Given the description of an element on the screen output the (x, y) to click on. 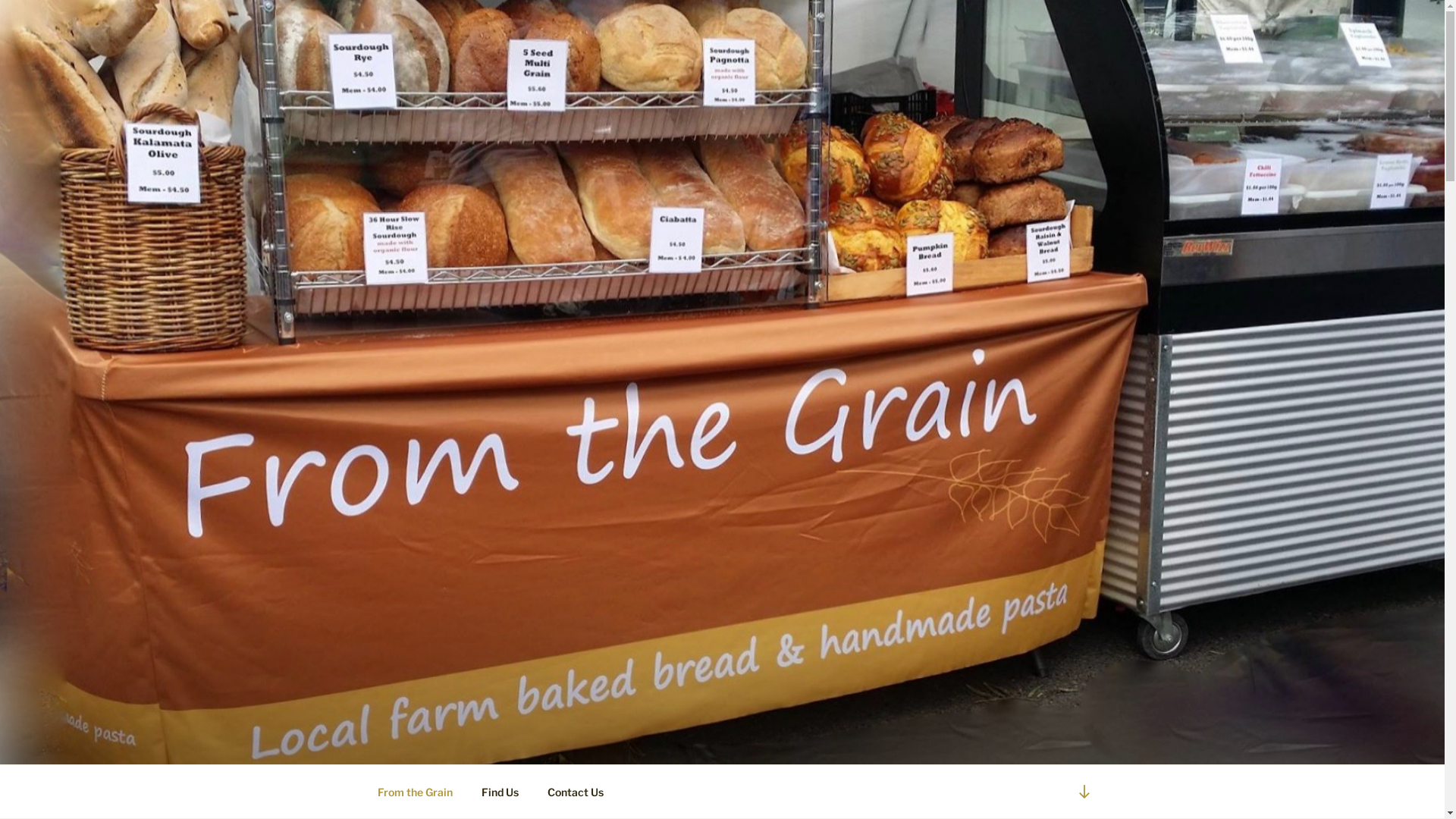
Find Us Element type: text (500, 791)
FROM THE GRAIN Element type: text (515, 744)
Contact Us Element type: text (574, 791)
Scroll down to content Element type: text (1083, 790)
From the Grain Element type: text (414, 791)
